Given the description of an element on the screen output the (x, y) to click on. 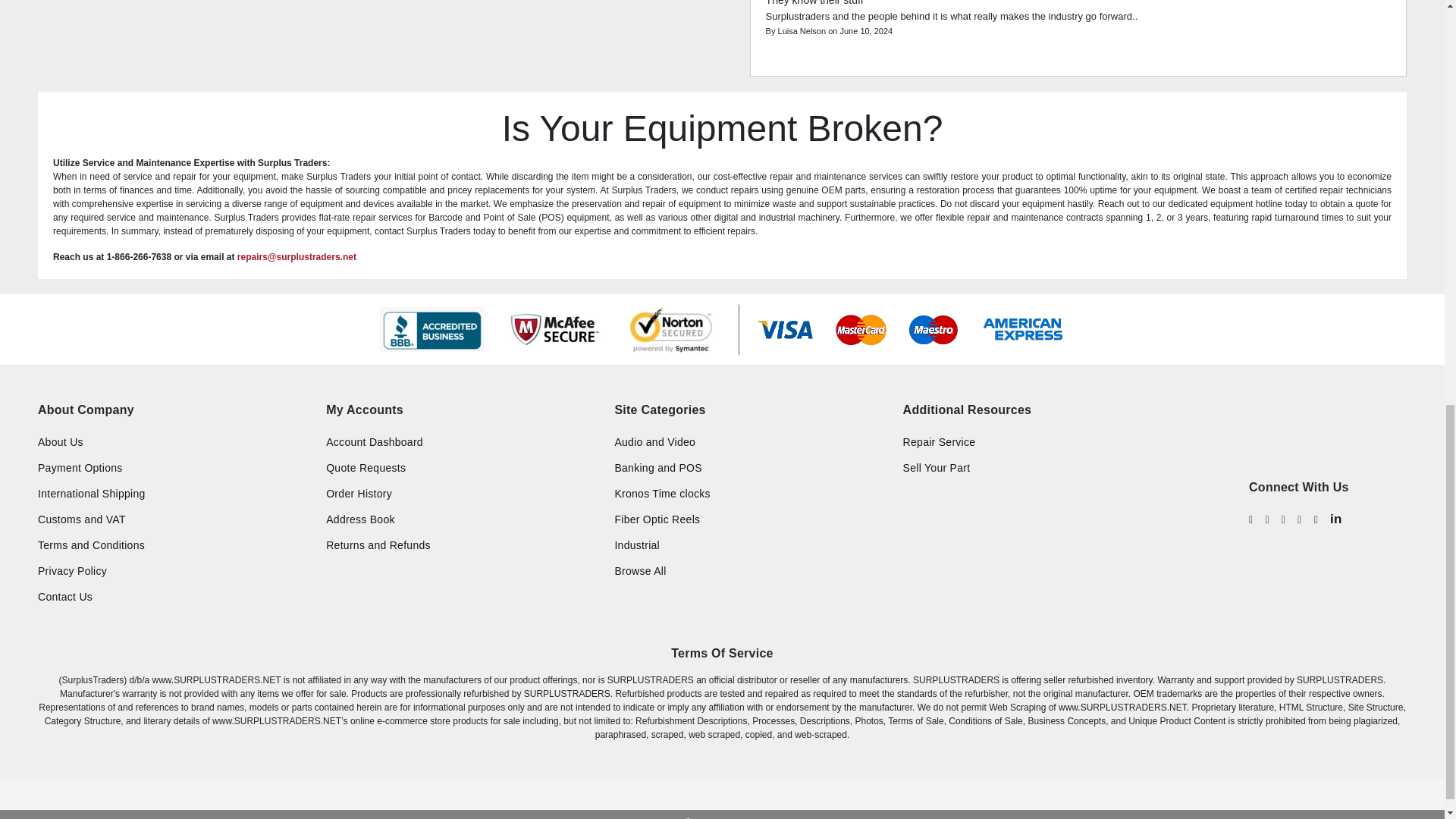
Accredited Business (430, 329)
Mcafree Secure (553, 329)
Payment Options (174, 467)
Maestro Logo (932, 329)
Master Card Logo (860, 329)
Visa Logo (784, 329)
Terms and Conditions (174, 544)
Customs and VAT (174, 519)
American Express Logo (1021, 328)
International Shipping (174, 493)
Norton Secured (671, 329)
About Us (174, 442)
